Given the description of an element on the screen output the (x, y) to click on. 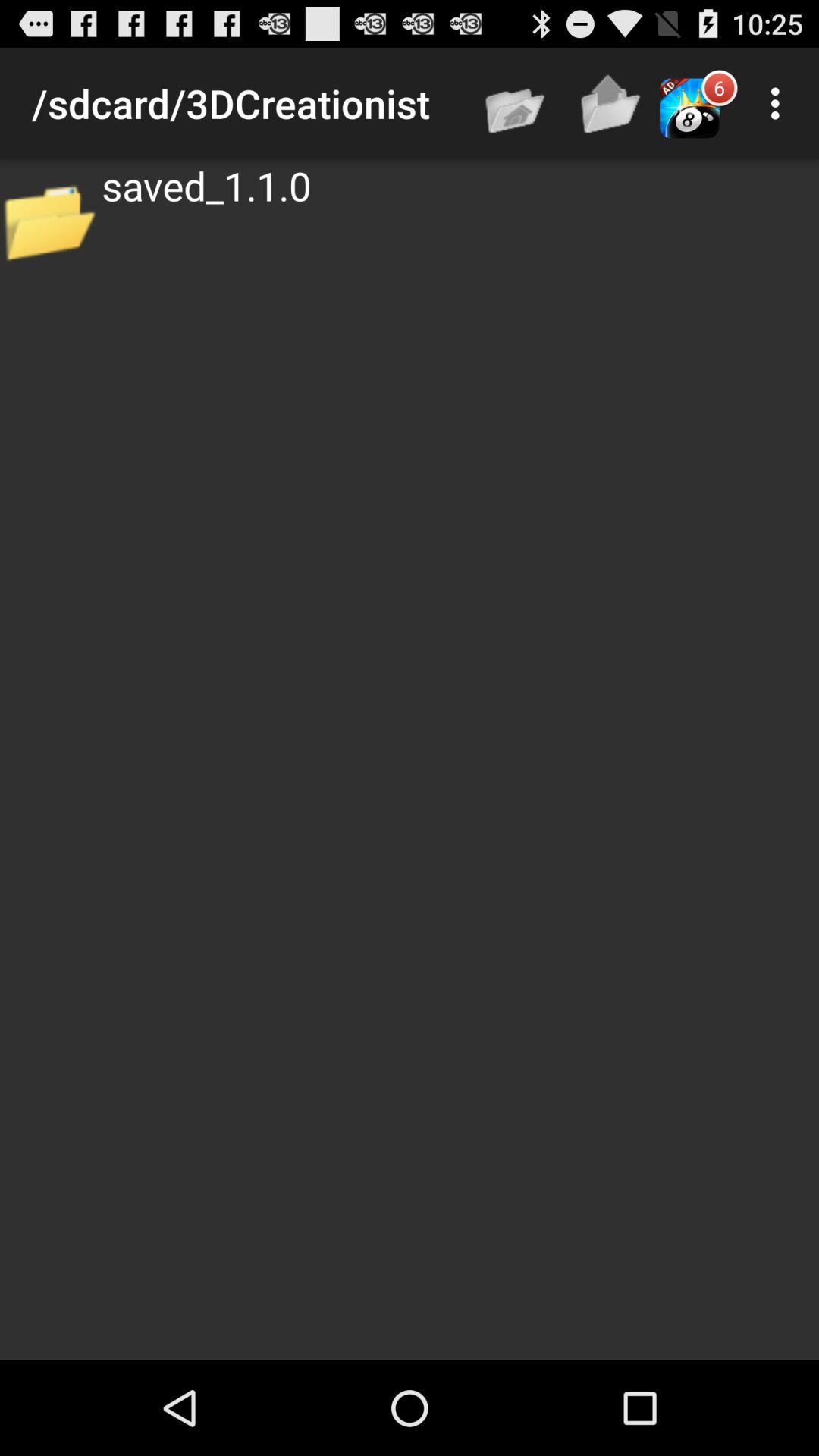
select app next to 6 icon (779, 103)
